Given the description of an element on the screen output the (x, y) to click on. 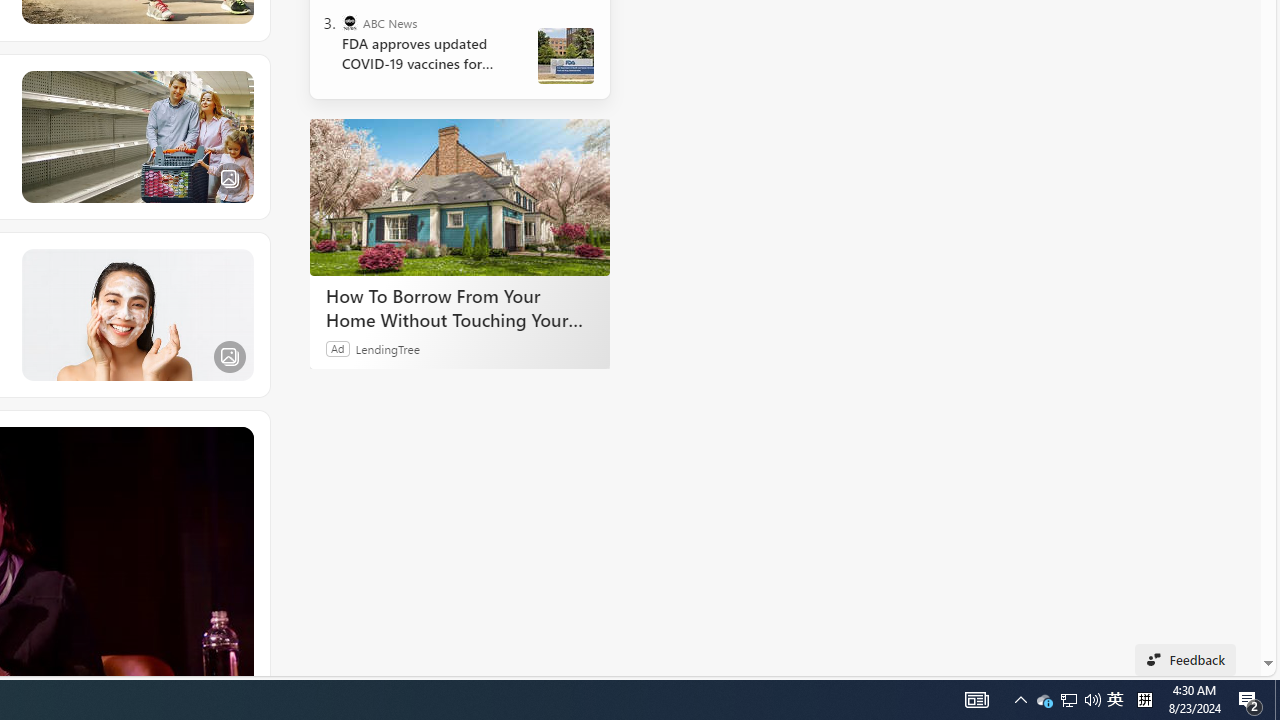
How To Borrow From Your Home Without Touching Your Mortgage (459, 307)
LendingTree (387, 348)
How To Borrow From Your Home Without Touching Your Mortgage (459, 196)
ABC News (349, 22)
